Given the description of an element on the screen output the (x, y) to click on. 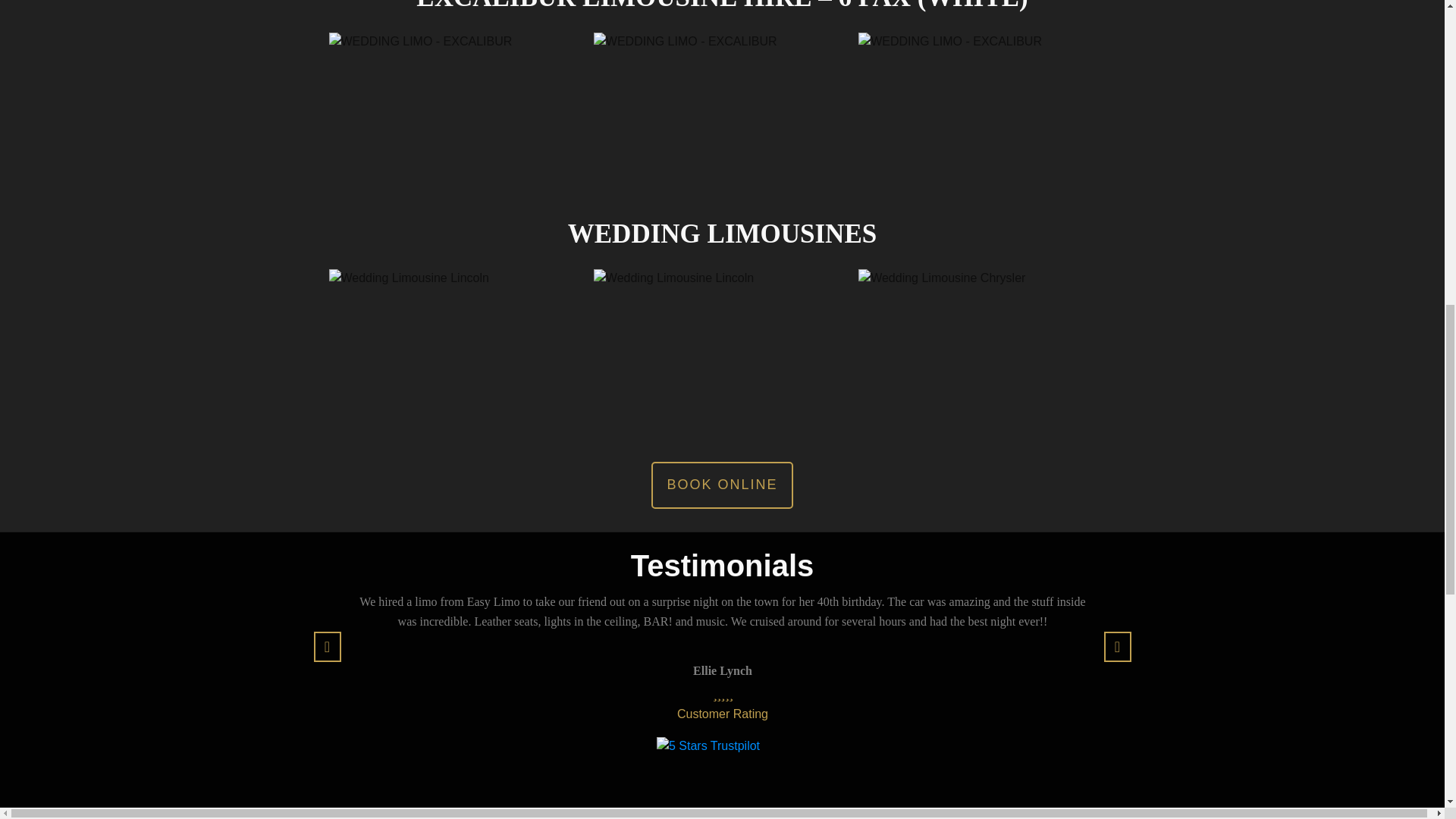
5 Stars Trustpilot (721, 766)
Wedding Limousine Chrysler (987, 353)
Wedding Limousine Lincoln (457, 365)
WEDDING LIMO  - EXCALIBUR (457, 122)
WEDDING LIMO  - EXCALIBUR (987, 116)
WEDDING LIMO  - EXCALIBUR (722, 116)
Wedding Limousine Lincoln (722, 365)
